Given the description of an element on the screen output the (x, y) to click on. 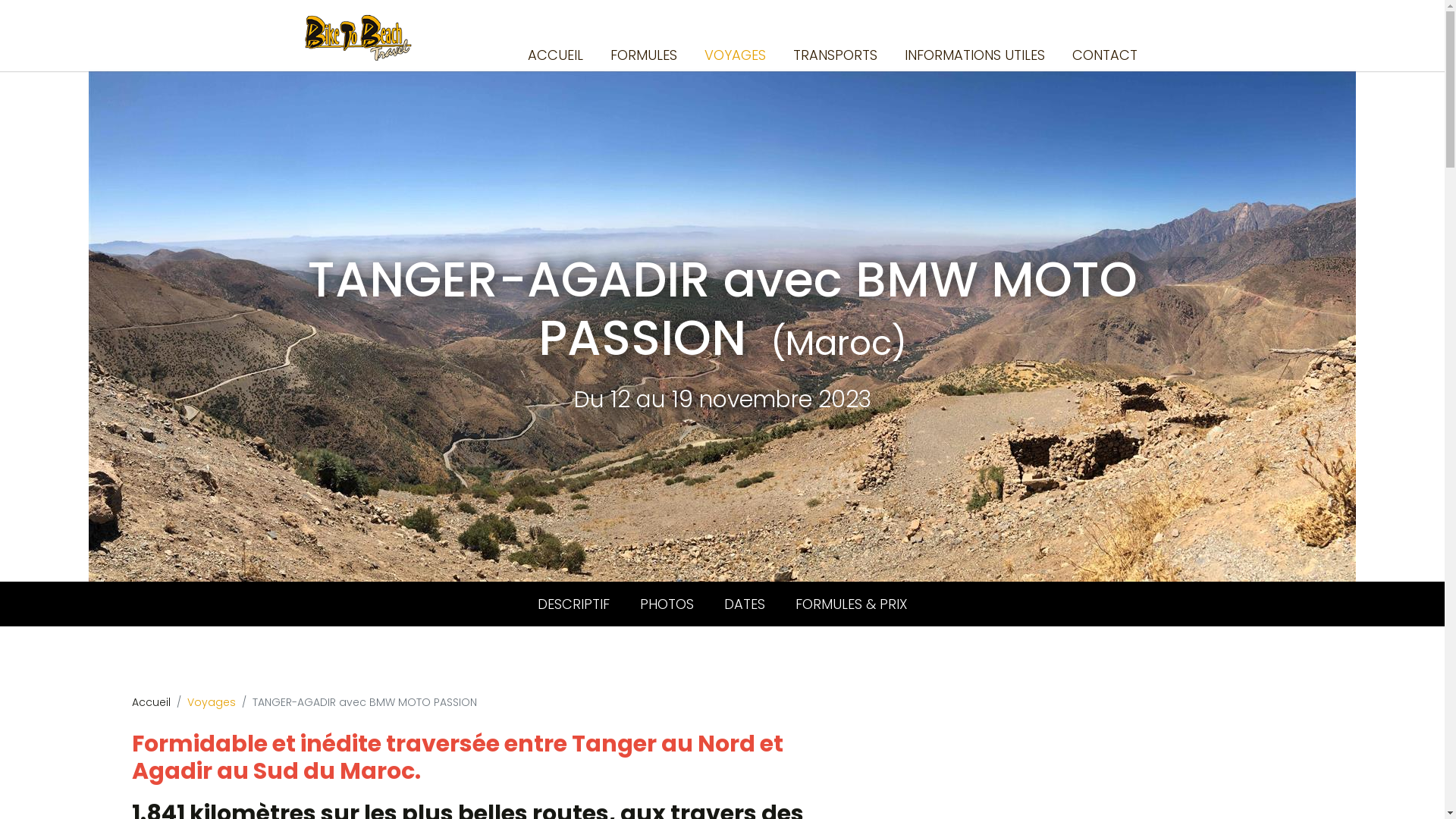
CONTACT Element type: text (1104, 54)
TRANSPORTS Element type: text (835, 54)
DESCRIPTIF Element type: text (572, 603)
PHOTOS Element type: text (666, 603)
FORMULES Element type: text (642, 54)
VOYAGES Element type: text (734, 54)
FORMULES & PRIX Element type: text (850, 603)
DATES Element type: text (743, 603)
ACCUEIL Element type: text (555, 54)
INFORMATIONS UTILES Element type: text (973, 54)
Voyages Element type: text (211, 701)
  Element type: text (1141, 17)
